Given the description of an element on the screen output the (x, y) to click on. 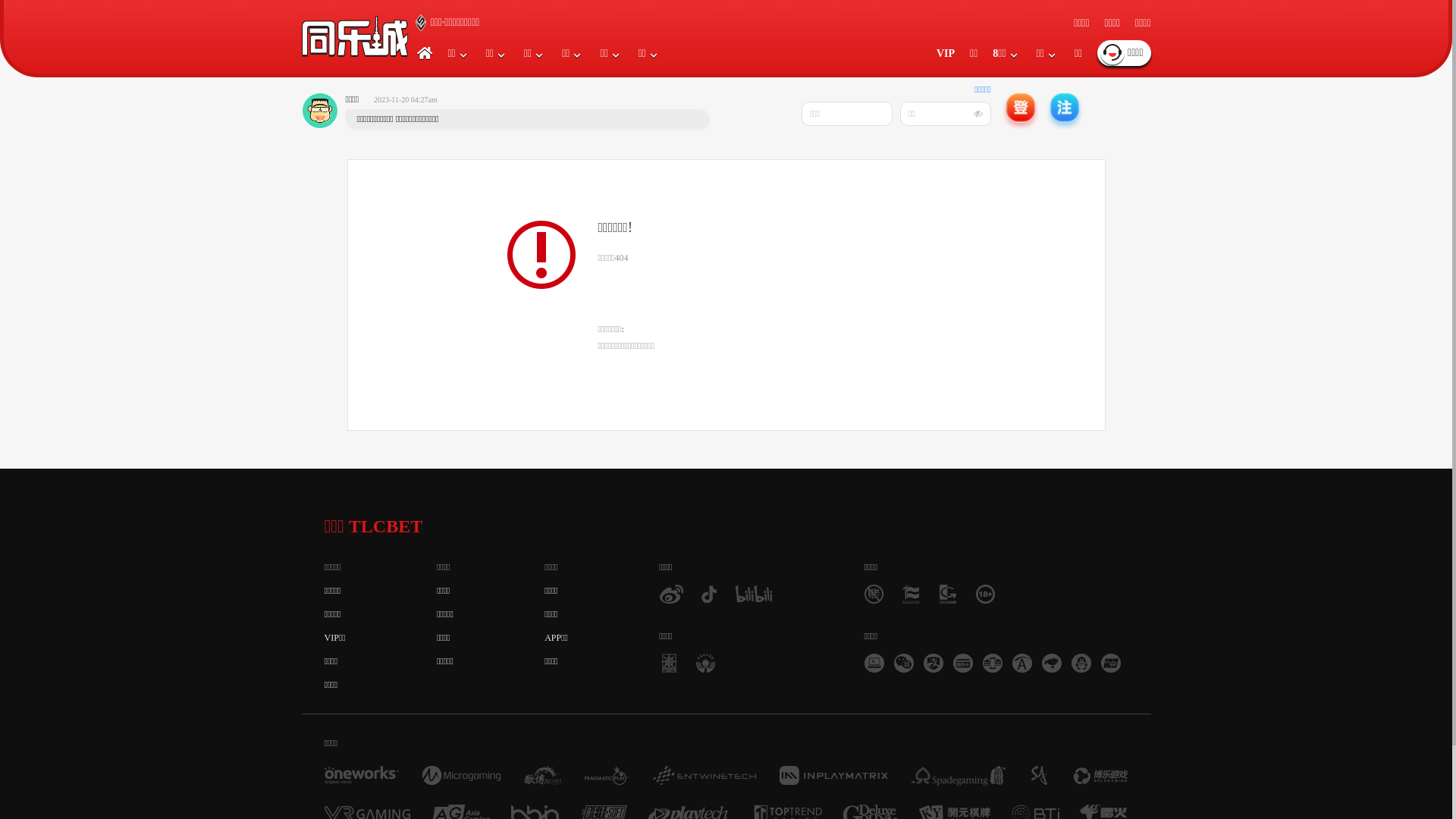
VIP Element type: text (945, 53)
